Given the description of an element on the screen output the (x, y) to click on. 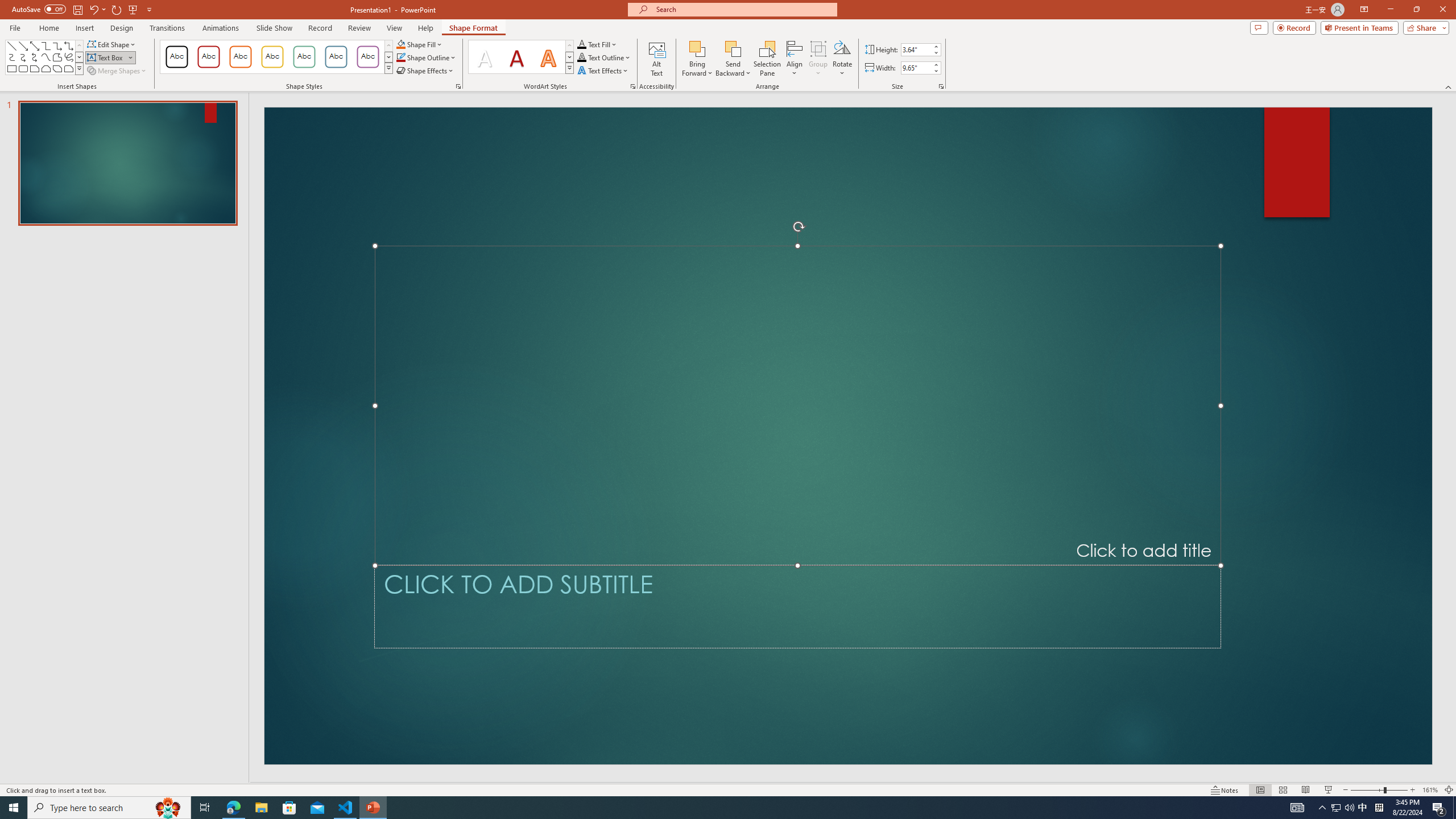
Fill: Dark Red, Accent color 1; Shadow (516, 56)
Rectangle: Single Corner Snipped (34, 68)
Rectangle: Top Corners Snipped (46, 68)
Colored Outline - Gold, Accent 3 (272, 56)
Colored Outline - Blue-Gray, Accent 5 (336, 56)
